Given the description of an element on the screen output the (x, y) to click on. 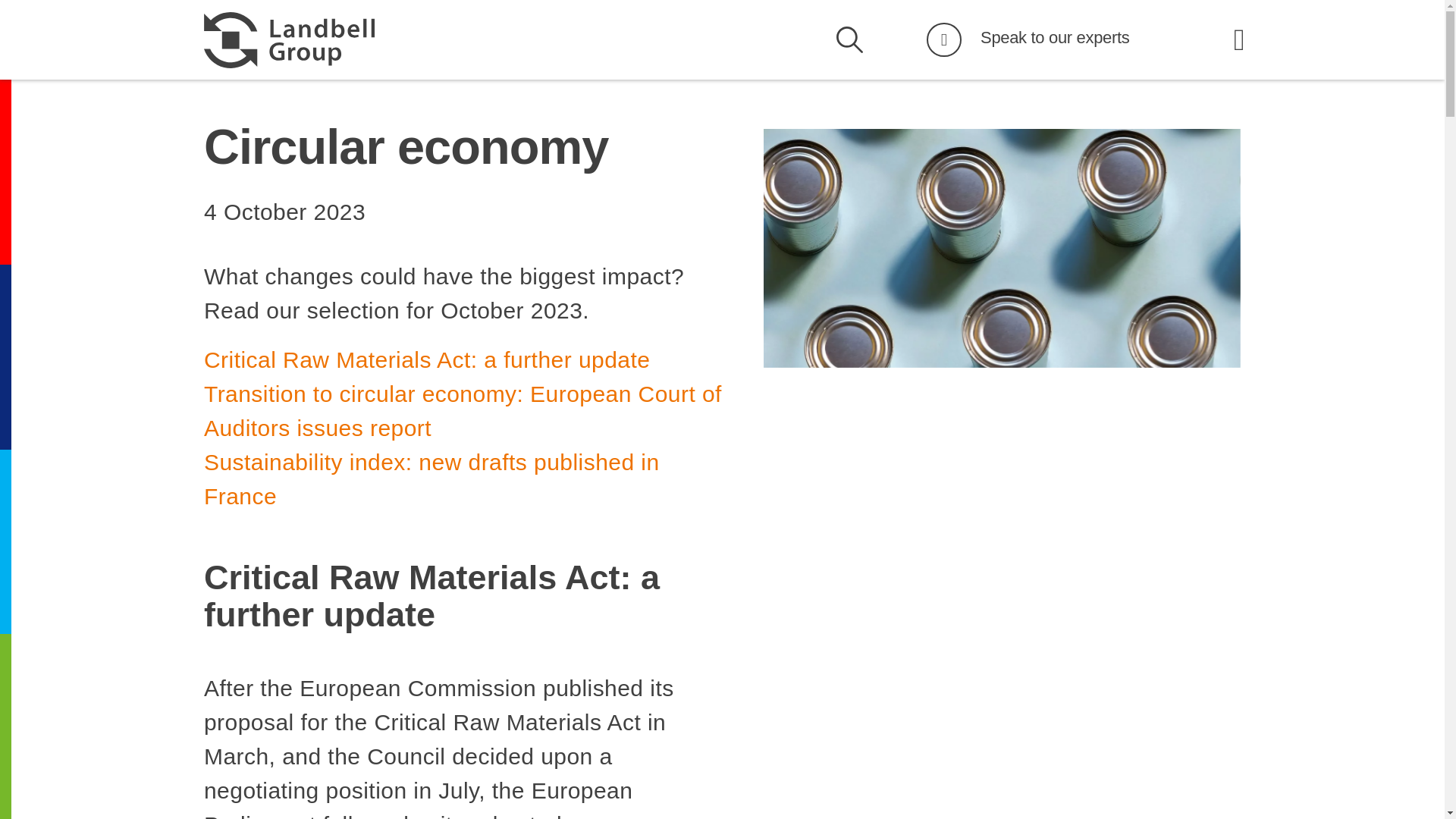
Sustainability index: new drafts published in France (431, 479)
Speak to our experts (1054, 36)
Toggle Navigation (1238, 39)
Critical Raw Materials Act: a further update (426, 360)
